Given the description of an element on the screen output the (x, y) to click on. 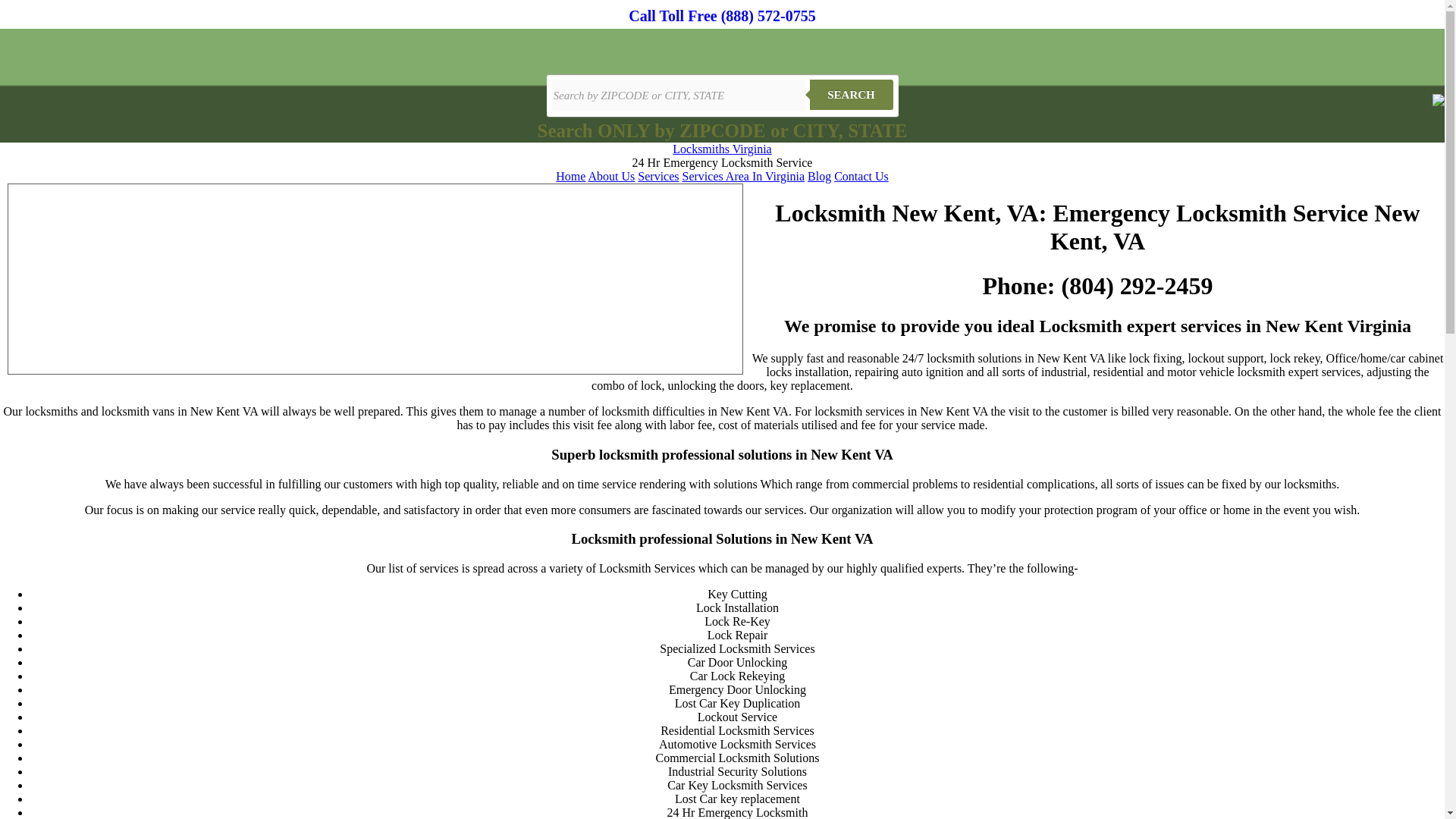
Contact Us (861, 175)
Services (657, 175)
Home (570, 175)
Locksmiths Virginia (721, 148)
Services Area In Virginia (743, 175)
SEARCH (851, 94)
Blog (819, 175)
About Us (611, 175)
